Given the description of an element on the screen output the (x, y) to click on. 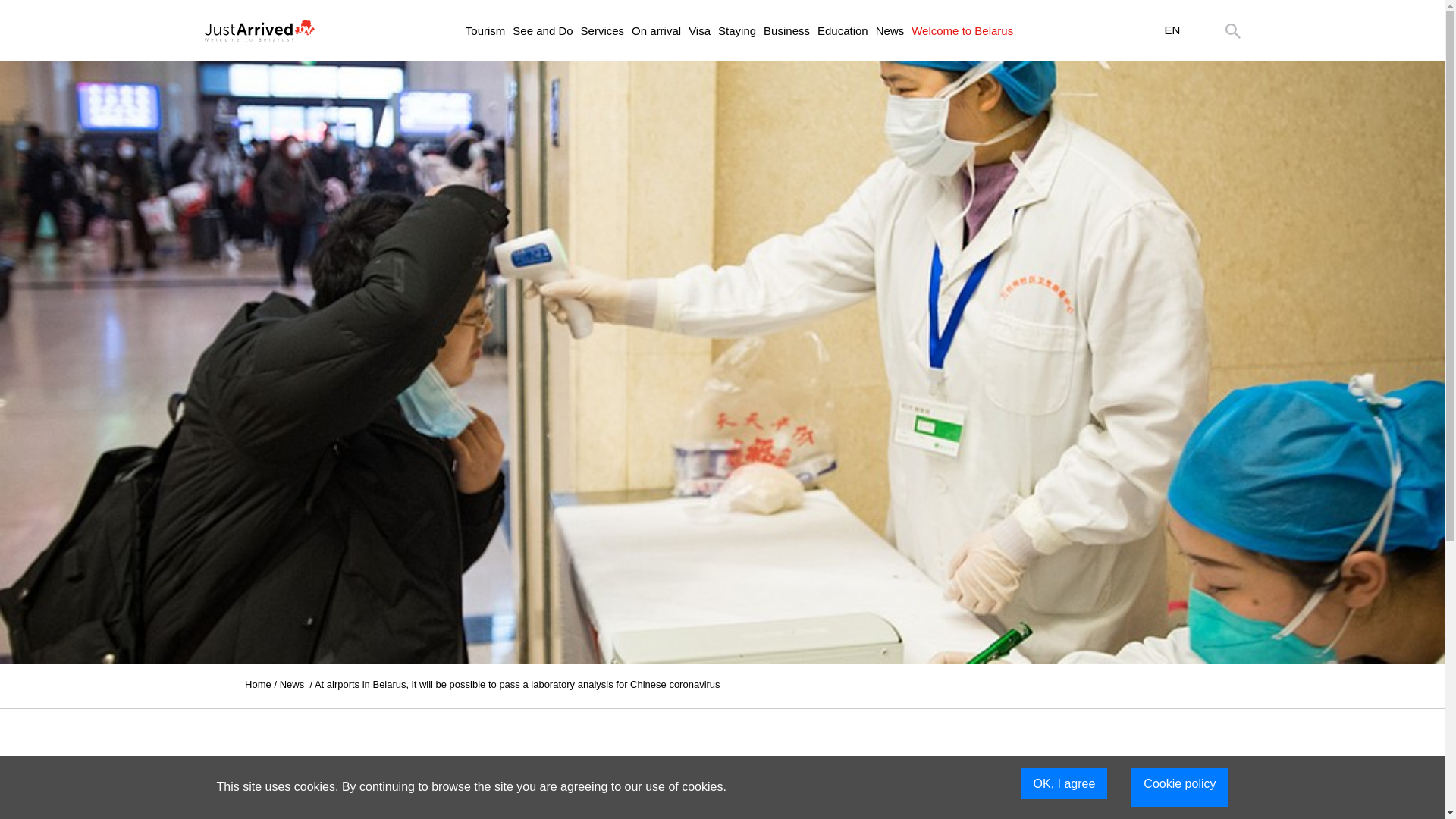
OK, I agree (1065, 784)
Cookie policy (1179, 787)
Advertisement (721, 764)
